Given the description of an element on the screen output the (x, y) to click on. 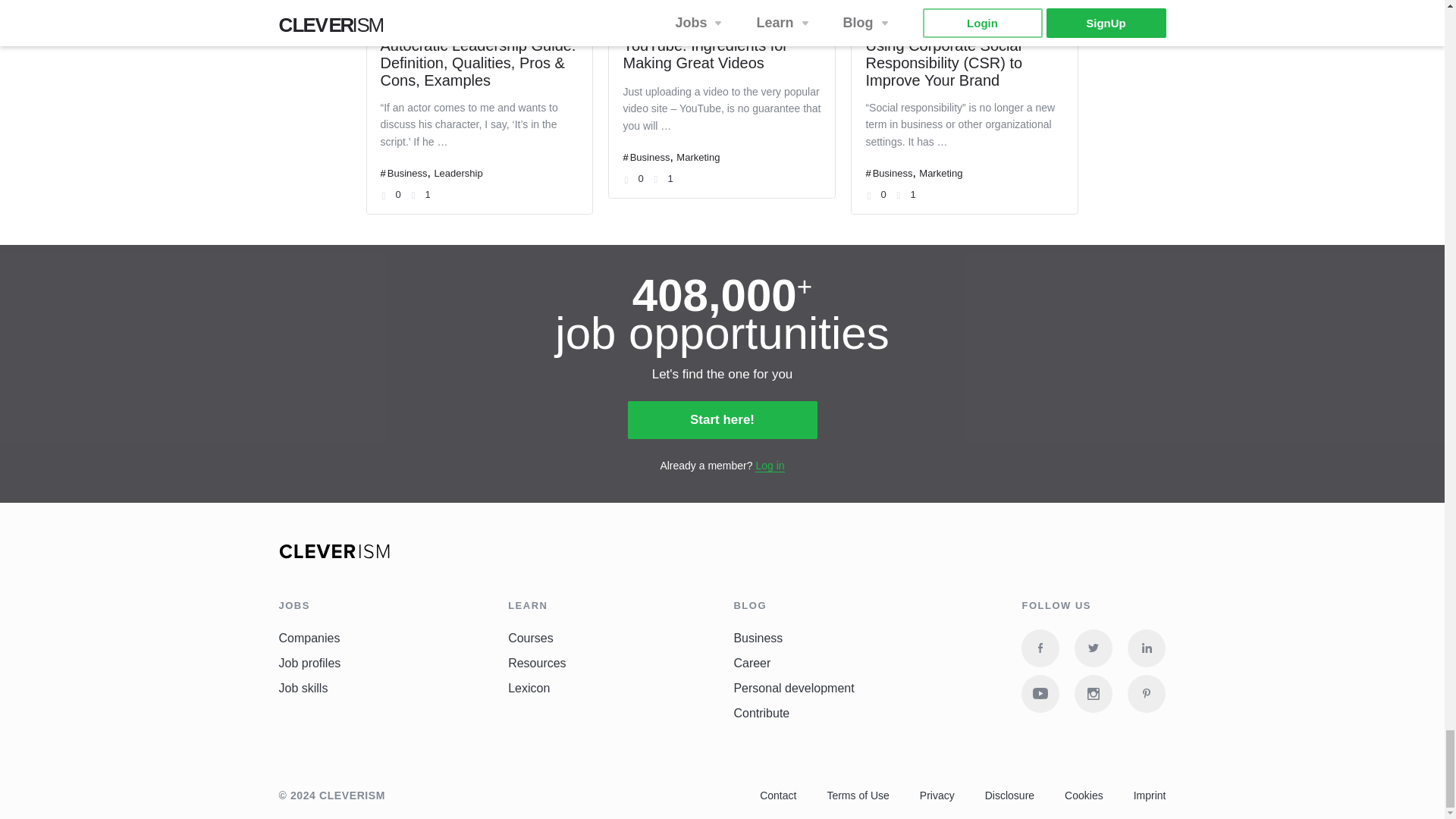
Business (649, 156)
Leadership (457, 173)
Business (407, 173)
YouTube: Ingredients for Making Great Videos (705, 53)
Marketing (698, 156)
